Given the description of an element on the screen output the (x, y) to click on. 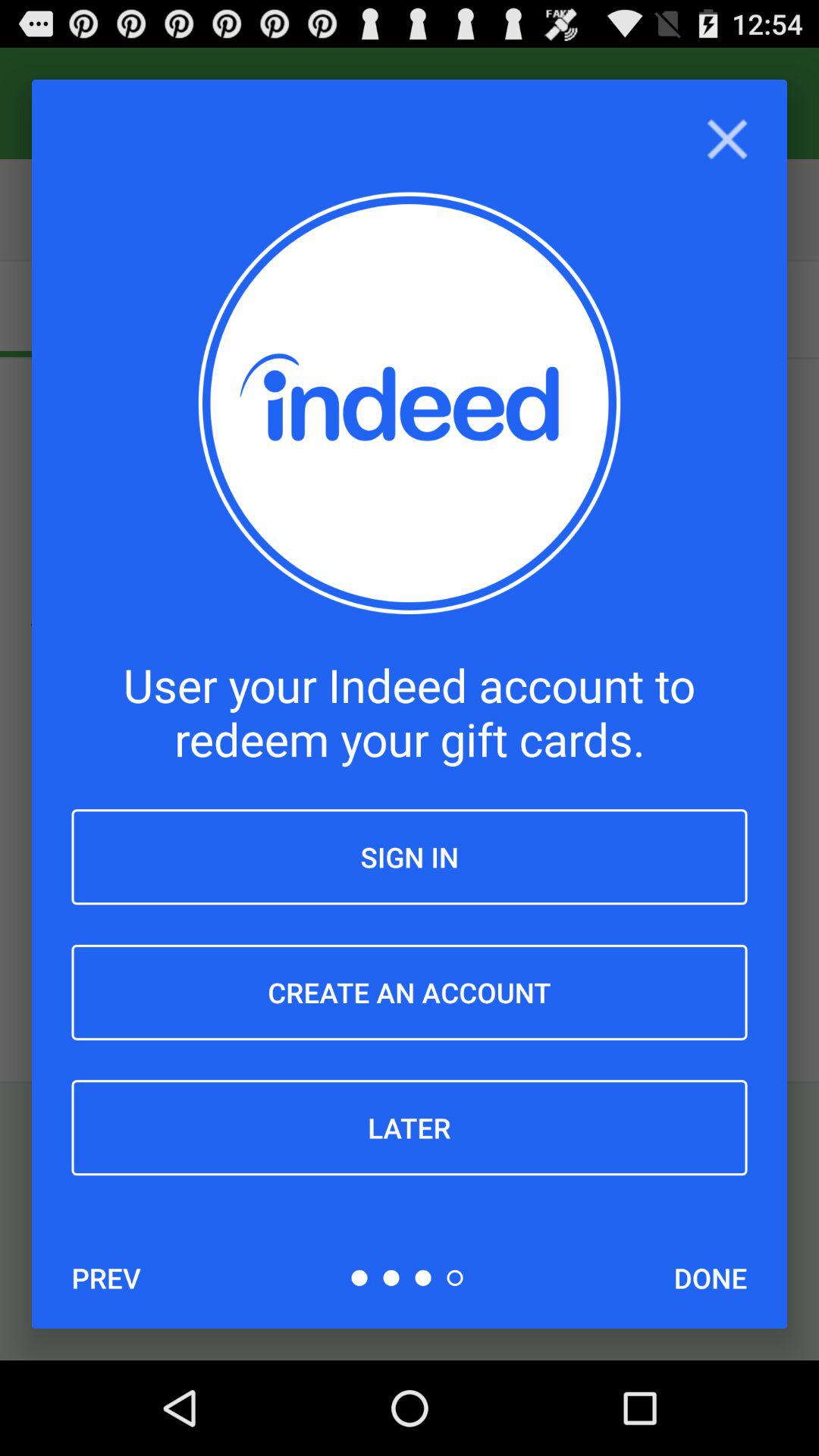
select the icon at the bottom left corner (105, 1277)
